Given the description of an element on the screen output the (x, y) to click on. 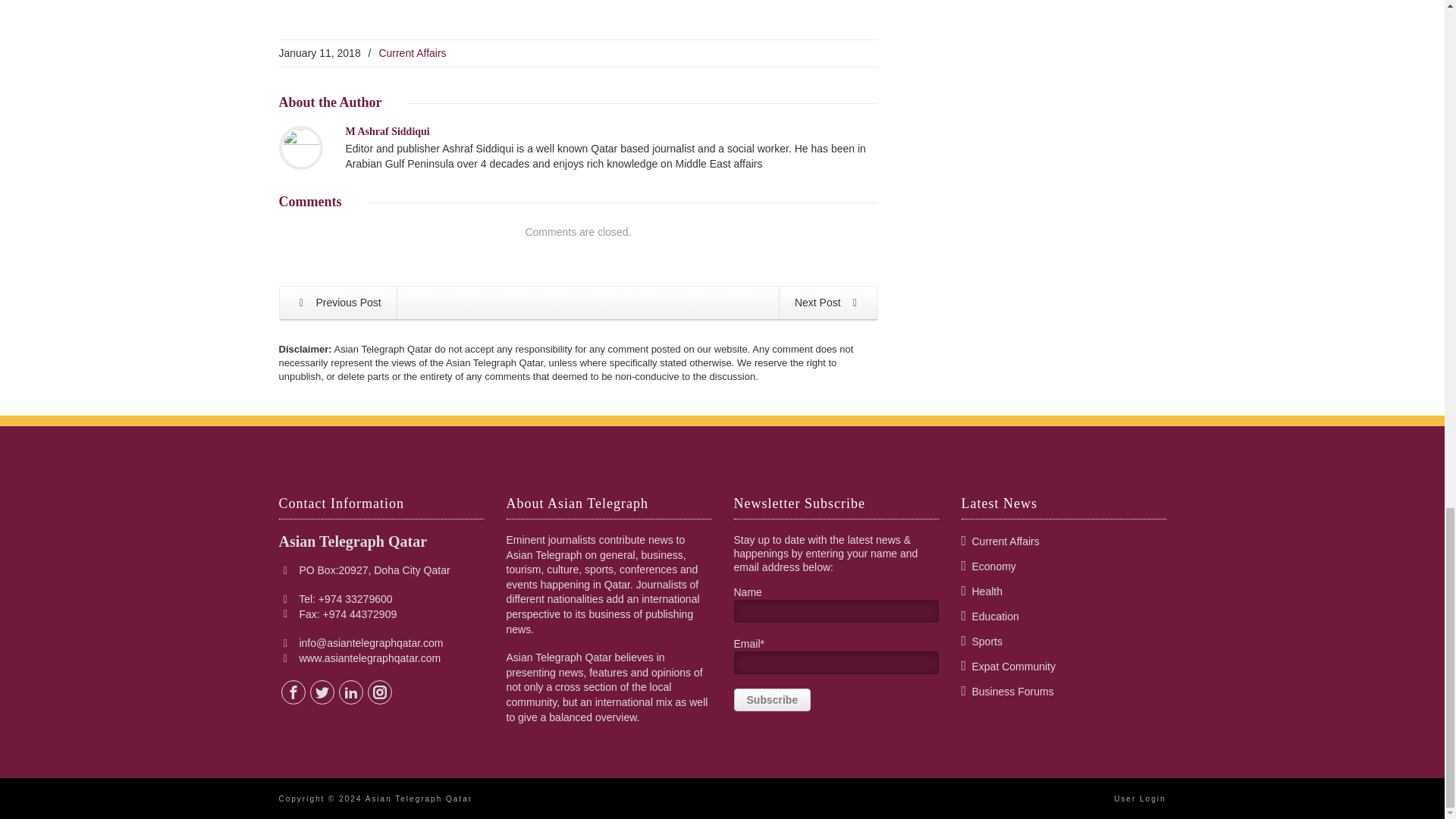
Previous Post (337, 302)
Linkedin (350, 691)
Twitter (322, 691)
Author's Posts (387, 131)
Current Affairs (411, 52)
M Ashraf Siddiqui (387, 131)
Facebook (293, 691)
Subscribe (771, 699)
Next Post (828, 302)
Instagram (379, 691)
